Given the description of an element on the screen output the (x, y) to click on. 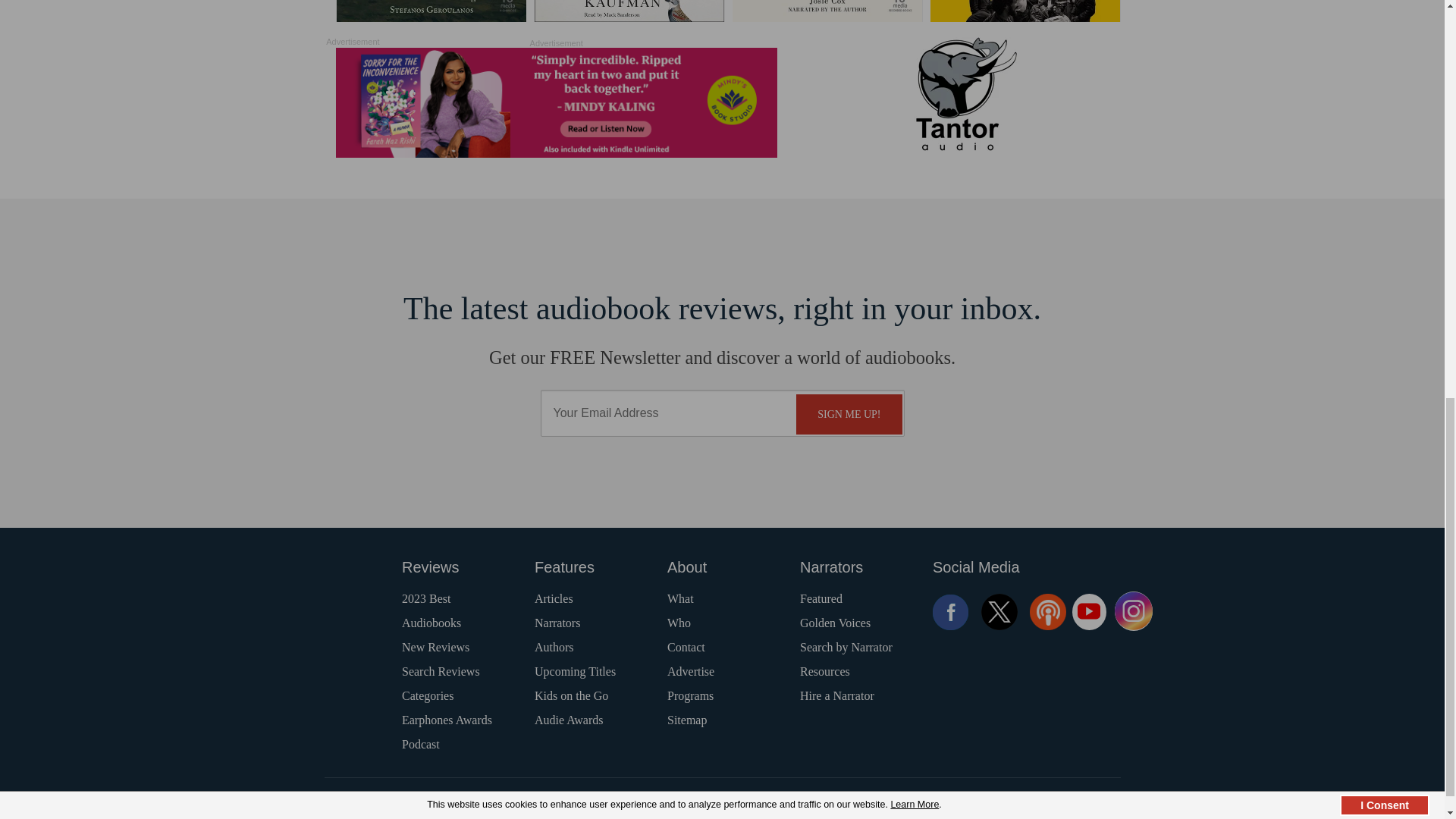
Facebook (951, 611)
Podcast (1047, 611)
Twitter (999, 611)
Sign Me Up! (848, 413)
YouTube (1088, 611)
Instagram (1134, 611)
